Given the description of an element on the screen output the (x, y) to click on. 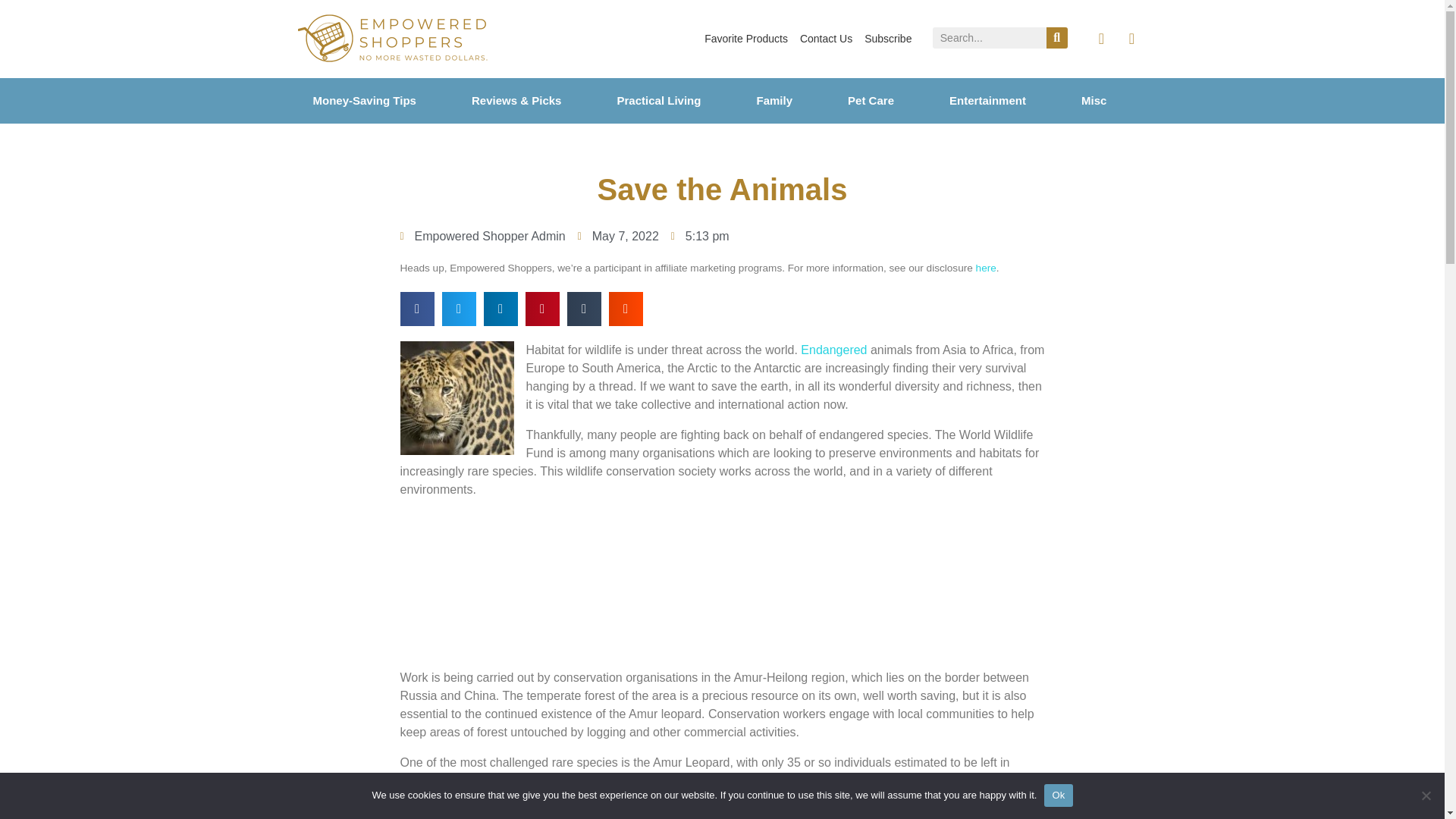
Contact Us (826, 38)
Pet Care (891, 100)
Family (794, 100)
Entertainment (1008, 100)
No (1425, 795)
Practical Living (679, 100)
Subscribe (888, 38)
Favorite Products (745, 38)
Misc (1114, 100)
Money-Saving Tips (384, 100)
Advertisement (722, 586)
